Given the description of an element on the screen output the (x, y) to click on. 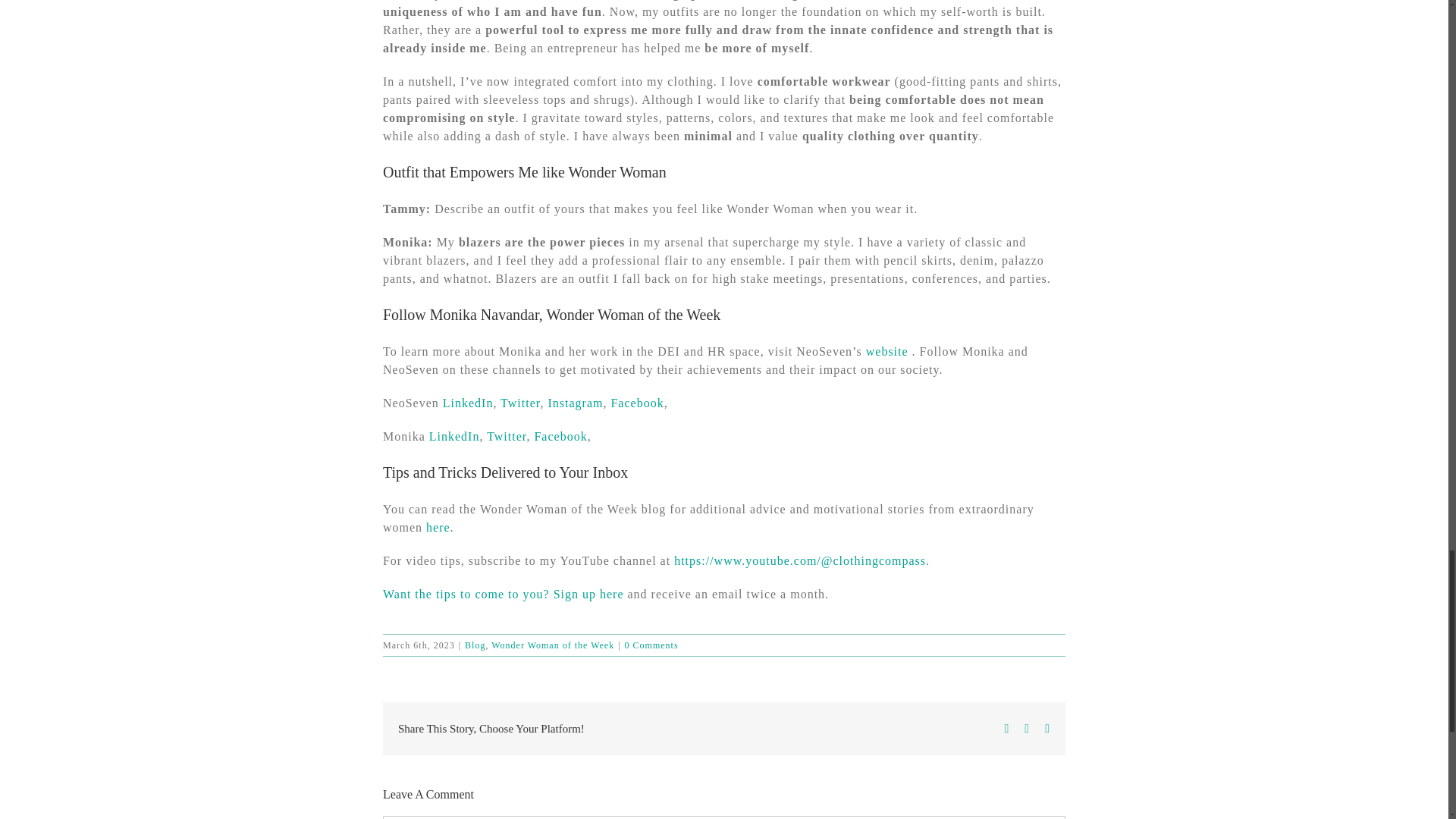
Facebook (636, 402)
Wonder Woman of the Week (553, 644)
Blog (474, 644)
Facebook (560, 436)
LinkedIn (467, 402)
website (887, 350)
Twitter (505, 436)
Want the tips to come to you? Sign up here (503, 594)
Twitter (520, 402)
0 Comments (651, 644)
